Given the description of an element on the screen output the (x, y) to click on. 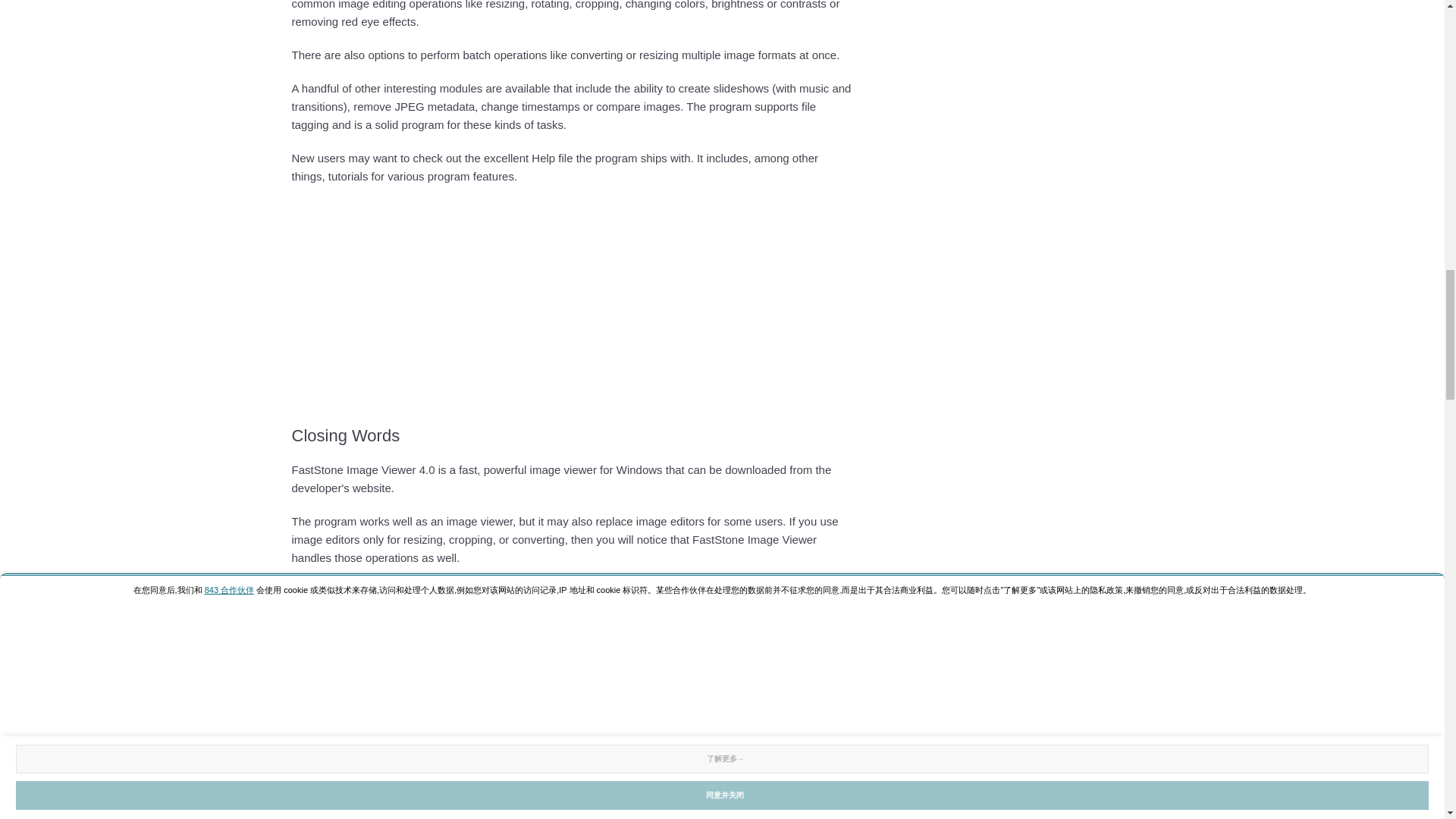
1 (745, 609)
3 (745, 649)
4 (745, 668)
2 (745, 629)
5 (745, 688)
